Given the description of an element on the screen output the (x, y) to click on. 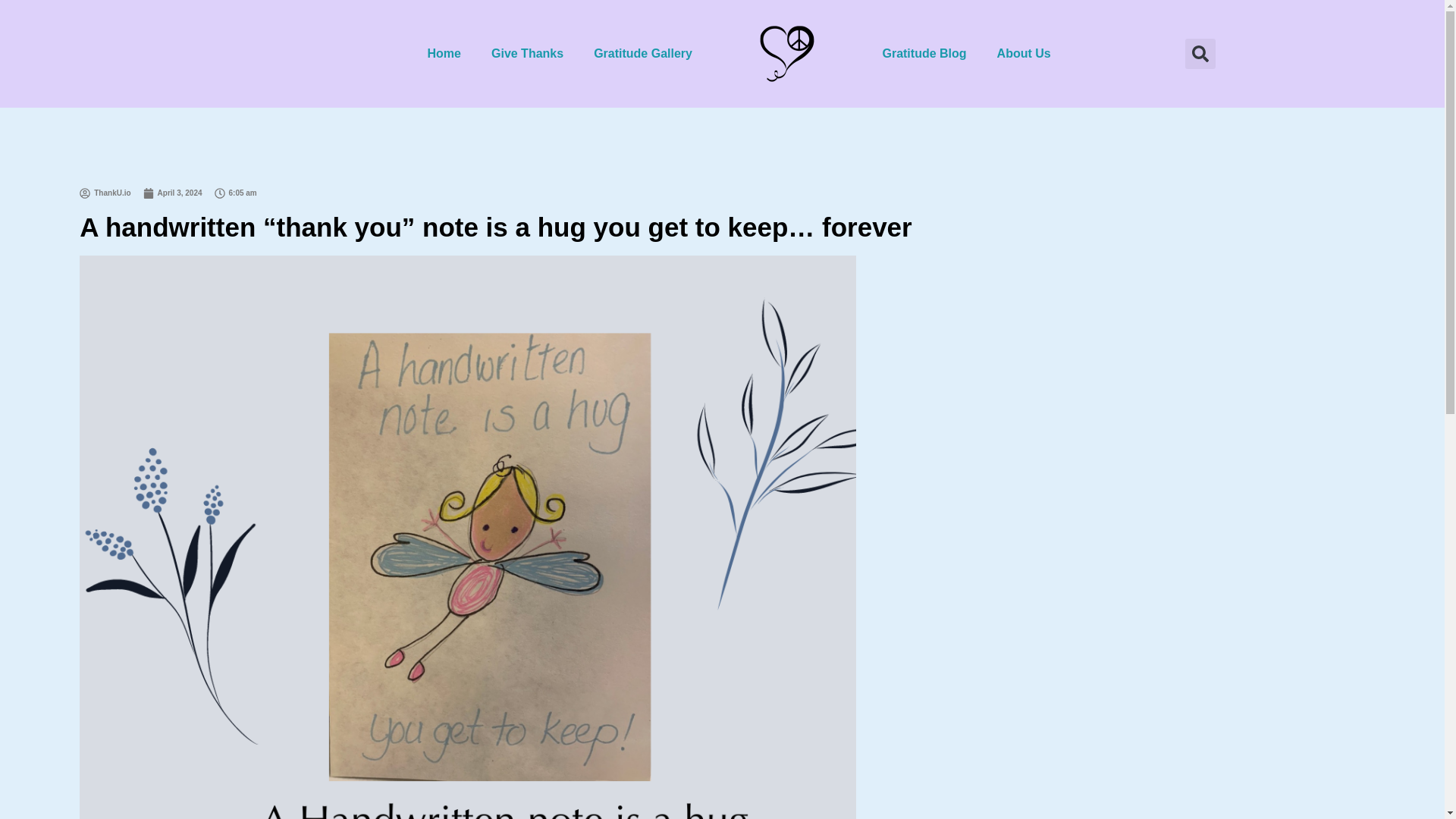
ThankU.io Logo (786, 53)
Gratitude Gallery (642, 53)
April 3, 2024 (172, 193)
About Us (1023, 53)
Give Thanks (527, 53)
Gratitude Blog (923, 53)
Home (444, 53)
ThankU.io (105, 193)
